Given the description of an element on the screen output the (x, y) to click on. 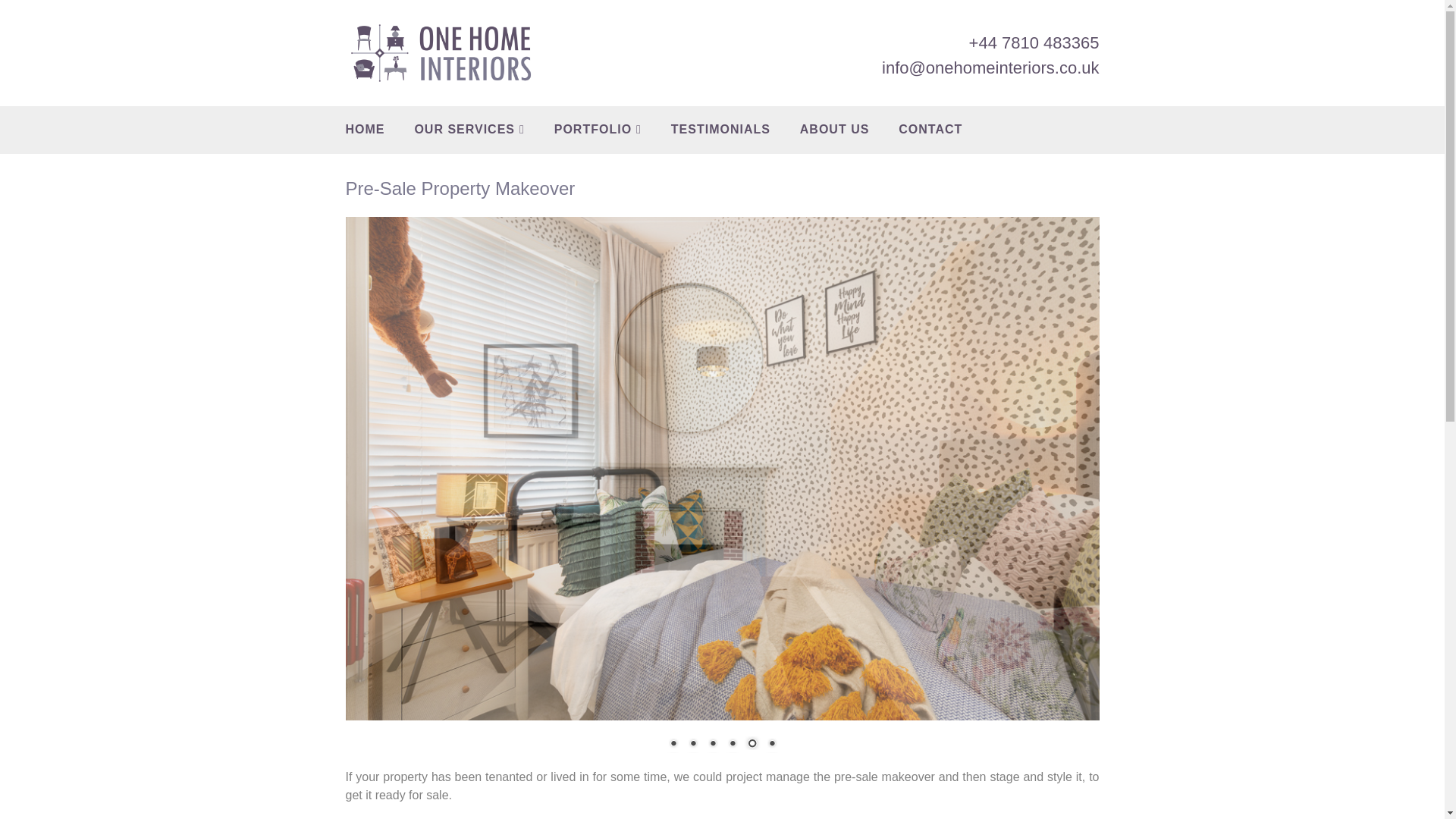
HOME (365, 129)
OUR SERVICES (468, 129)
